Given the description of an element on the screen output the (x, y) to click on. 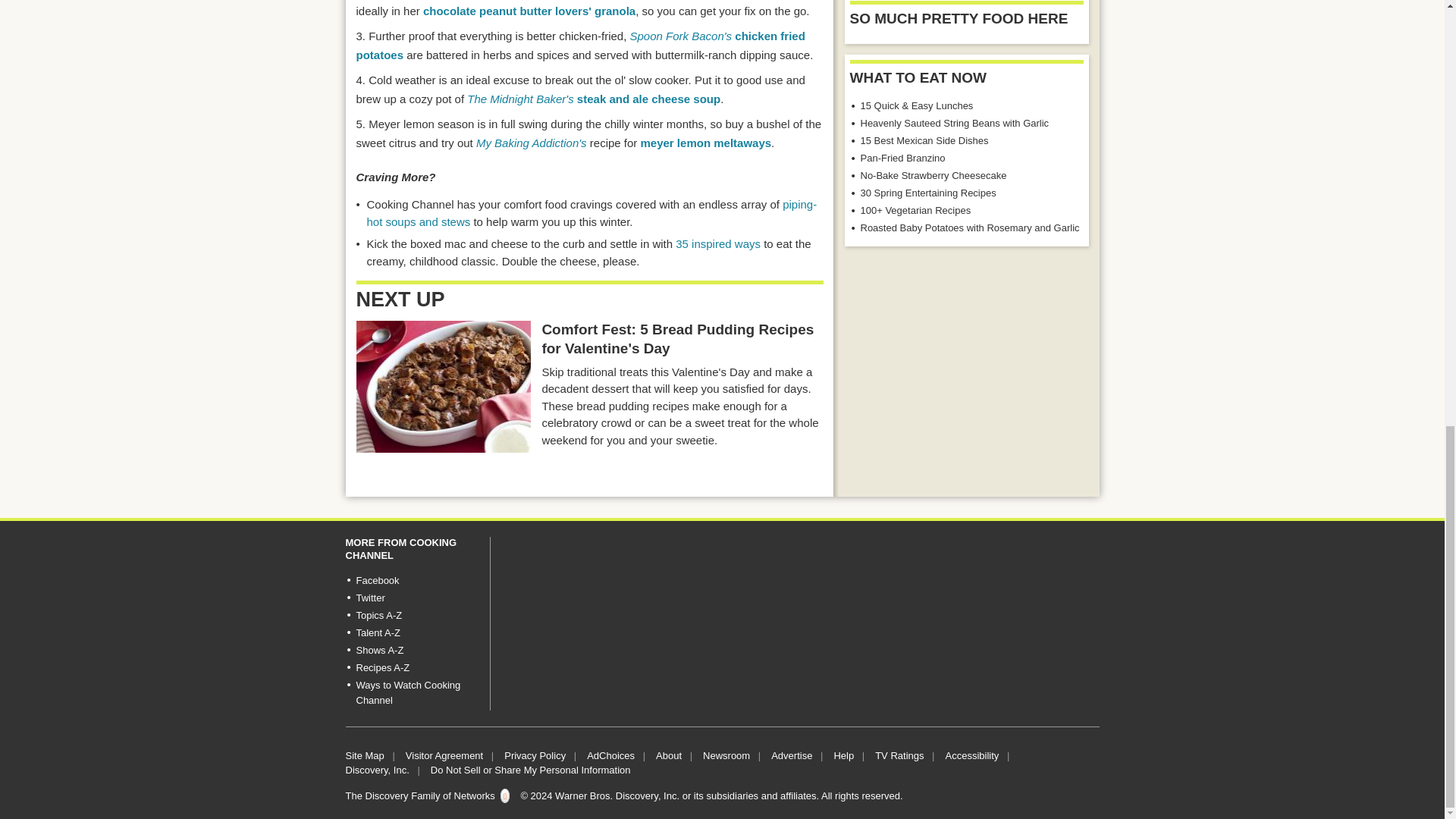
chicken fried potatoes (580, 45)
chocolate peanut butter lovers' granola (528, 10)
Spoon Fork Bacon's (681, 35)
Comfort Fest: 5 Bread Pudding Recipes for Valentine's Day (443, 386)
